Given the description of an element on the screen output the (x, y) to click on. 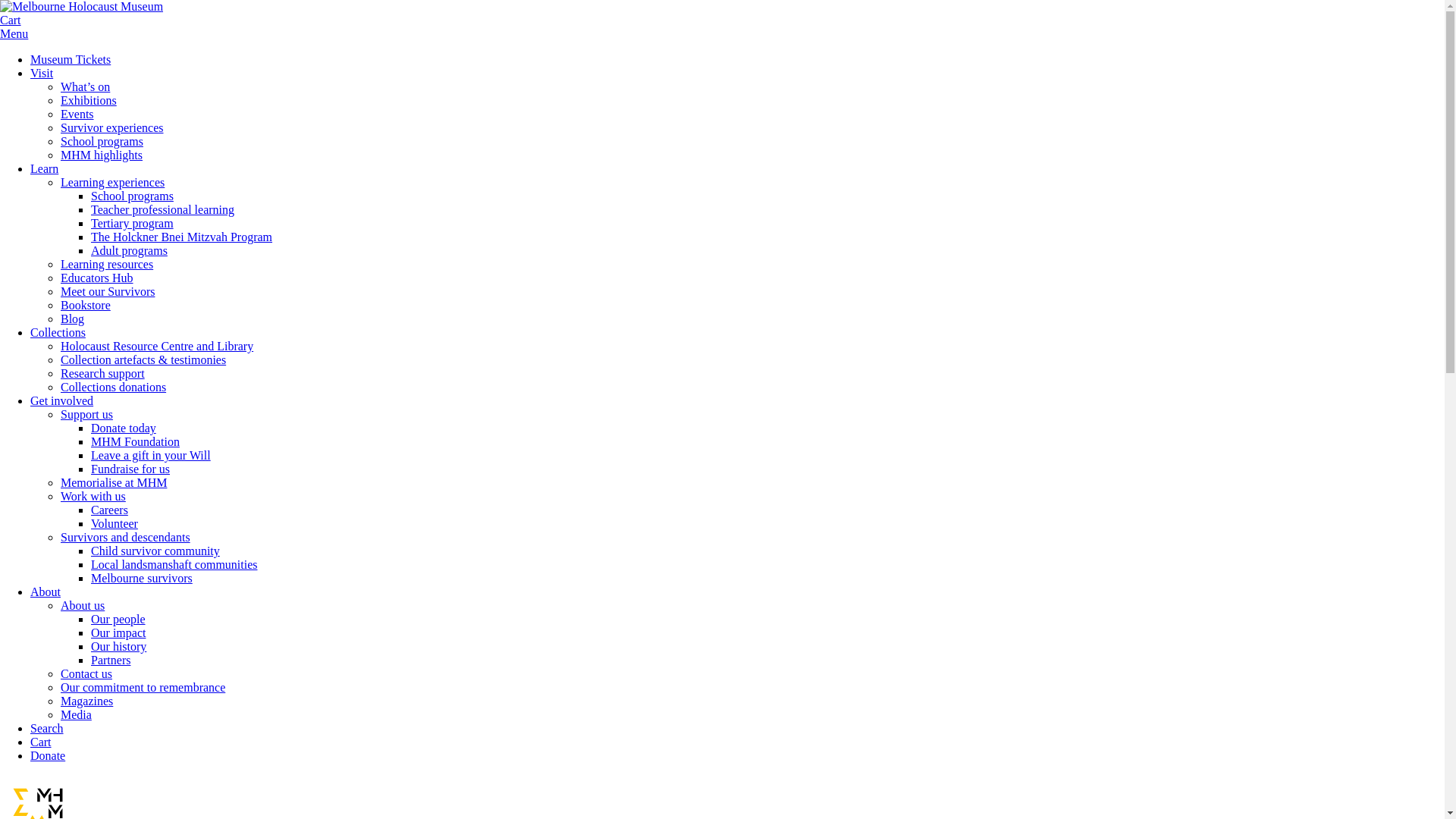
Holocaust Resource Centre and Library Element type: text (156, 345)
Collection artefacts & testimonies Element type: text (142, 359)
Melbourne survivors Element type: text (141, 577)
Collections donations Element type: text (113, 386)
Learn Element type: text (44, 168)
Our commitment to remembrance Element type: text (142, 686)
Cart Element type: text (40, 741)
Meet our Survivors Element type: text (107, 291)
Work with us Element type: text (92, 495)
Blog Element type: text (72, 318)
Magazines Element type: text (86, 700)
MHM highlights Element type: text (101, 154)
Teacher professional learning Element type: text (162, 209)
Leave a gift in your Will Element type: text (150, 454)
Learning resources Element type: text (106, 263)
Melbourne Holocaust Museum Element type: hover (81, 6)
Fundraise for us Element type: text (130, 468)
Visit Element type: text (41, 72)
Exhibitions Element type: text (88, 100)
Cart Element type: text (10, 19)
Volunteer Element type: text (114, 523)
Our impact Element type: text (118, 632)
Survivor experiences Element type: text (111, 127)
Get involved Element type: text (61, 400)
School programs Element type: text (132, 195)
School programs Element type: text (101, 140)
Museum Tickets Element type: text (70, 59)
MHM Foundation Element type: text (135, 441)
About us Element type: text (82, 605)
Our people Element type: text (118, 618)
Partners Element type: text (110, 659)
Menu Element type: text (14, 33)
The Holckner Bnei Mitzvah Program Element type: text (181, 236)
Our history Element type: text (118, 646)
Media Element type: text (75, 714)
Contact us Element type: text (86, 673)
Donate today Element type: text (123, 427)
Learning experiences Element type: text (112, 181)
Careers Element type: text (109, 509)
Survivors and descendants Element type: text (125, 536)
Tertiary program Element type: text (132, 222)
Bookstore Element type: text (85, 304)
Memorialise at MHM Element type: text (113, 482)
Research support Element type: text (102, 373)
Child survivor community Element type: text (155, 550)
About Element type: text (45, 591)
Local landsmanshaft communities Element type: text (174, 564)
Events Element type: text (77, 113)
Support us Element type: text (86, 413)
Educators Hub Element type: text (96, 277)
Search Element type: text (46, 727)
Collections Element type: text (57, 332)
Donate Element type: text (47, 755)
Adult programs Element type: text (129, 250)
